Given the description of an element on the screen output the (x, y) to click on. 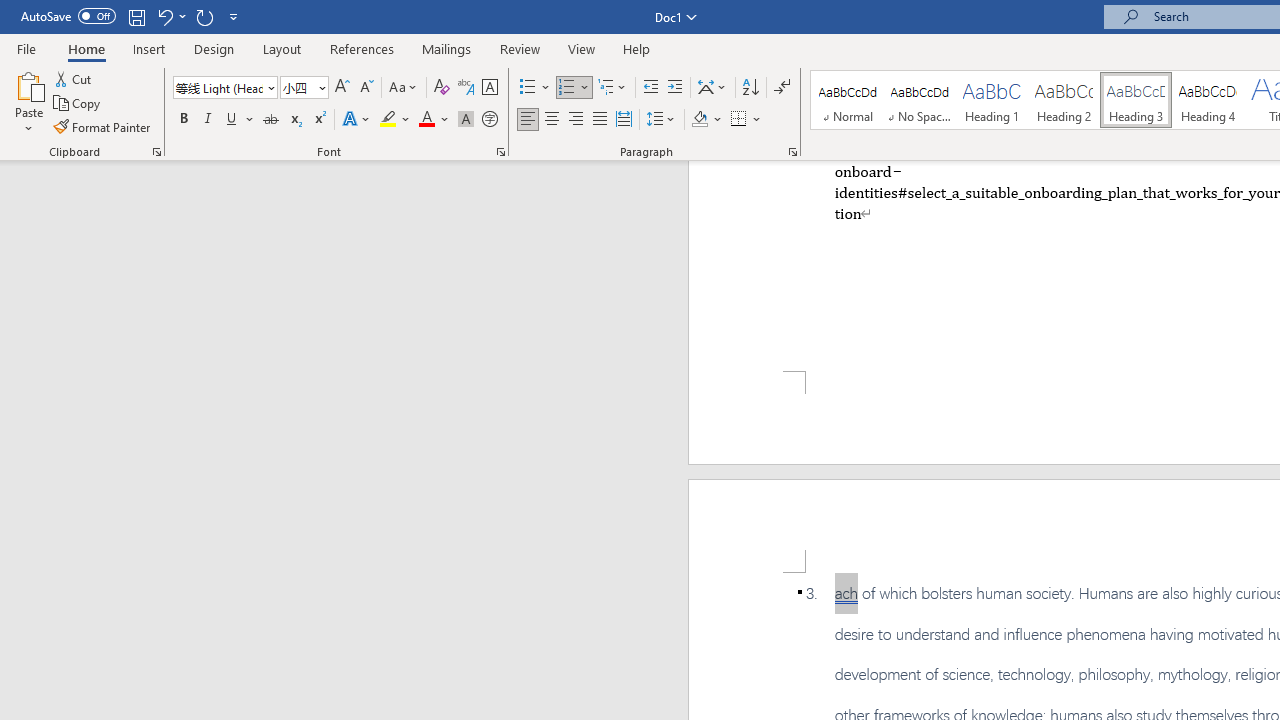
Office Clipboard... (156, 151)
Shrink Font (365, 87)
Repeat Style (204, 15)
Superscript (319, 119)
Text Highlight Color (395, 119)
Font... (500, 151)
Heading 3 (1135, 100)
Font Color Automatic (426, 119)
Distributed (623, 119)
Strikethrough (270, 119)
Shading RGB(0, 0, 0) (699, 119)
Heading 2 (1063, 100)
